Given the description of an element on the screen output the (x, y) to click on. 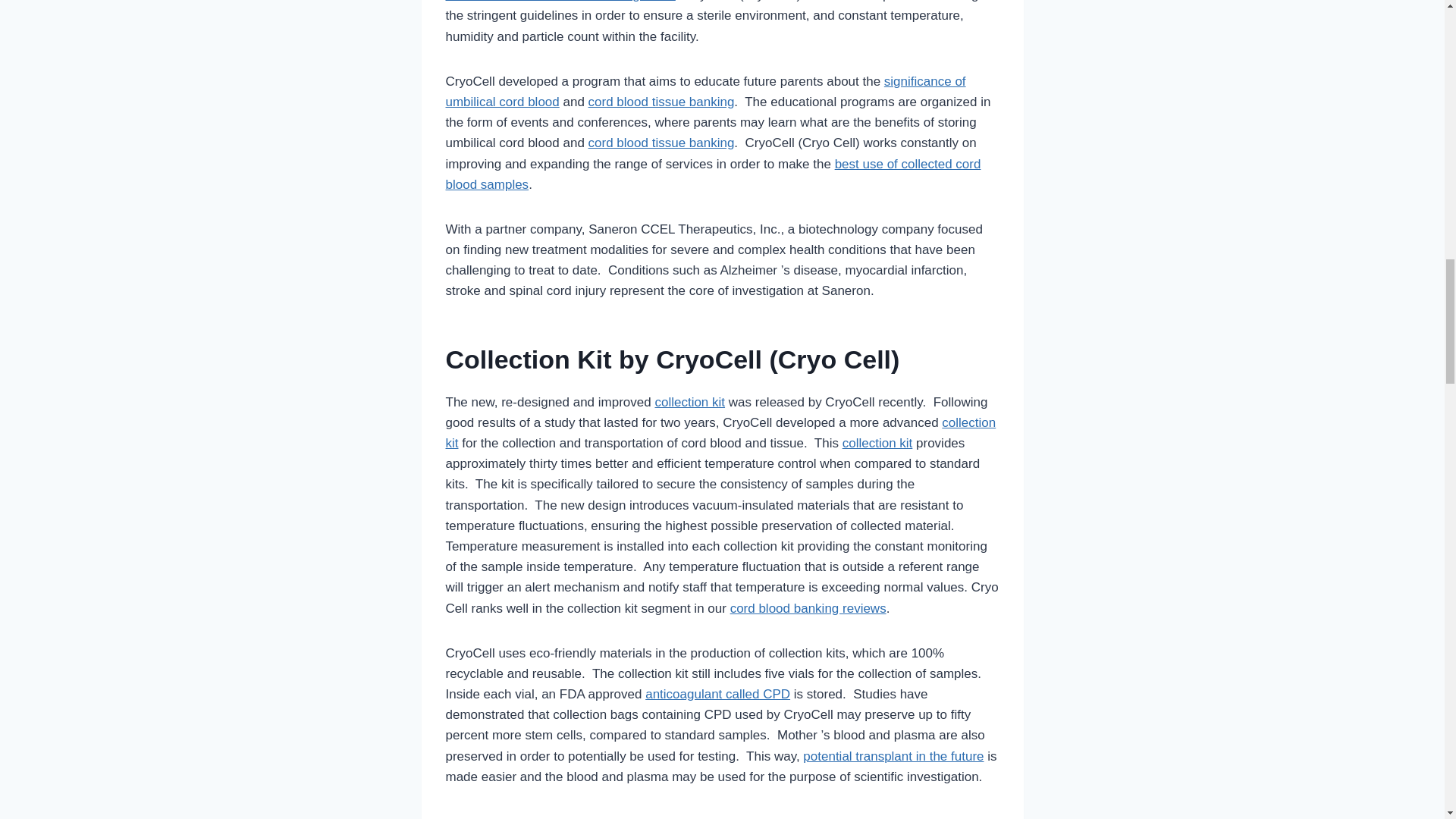
collection kit (689, 401)
collection kit (720, 432)
cord blood banking reviews (808, 607)
best use of collected cord blood samples (713, 173)
collection kit (877, 442)
cord blood tissue banking (661, 101)
cord blood tissue banking (661, 142)
significance of umbilical cord blood (705, 91)
potential transplant in the future (893, 756)
